Given the description of an element on the screen output the (x, y) to click on. 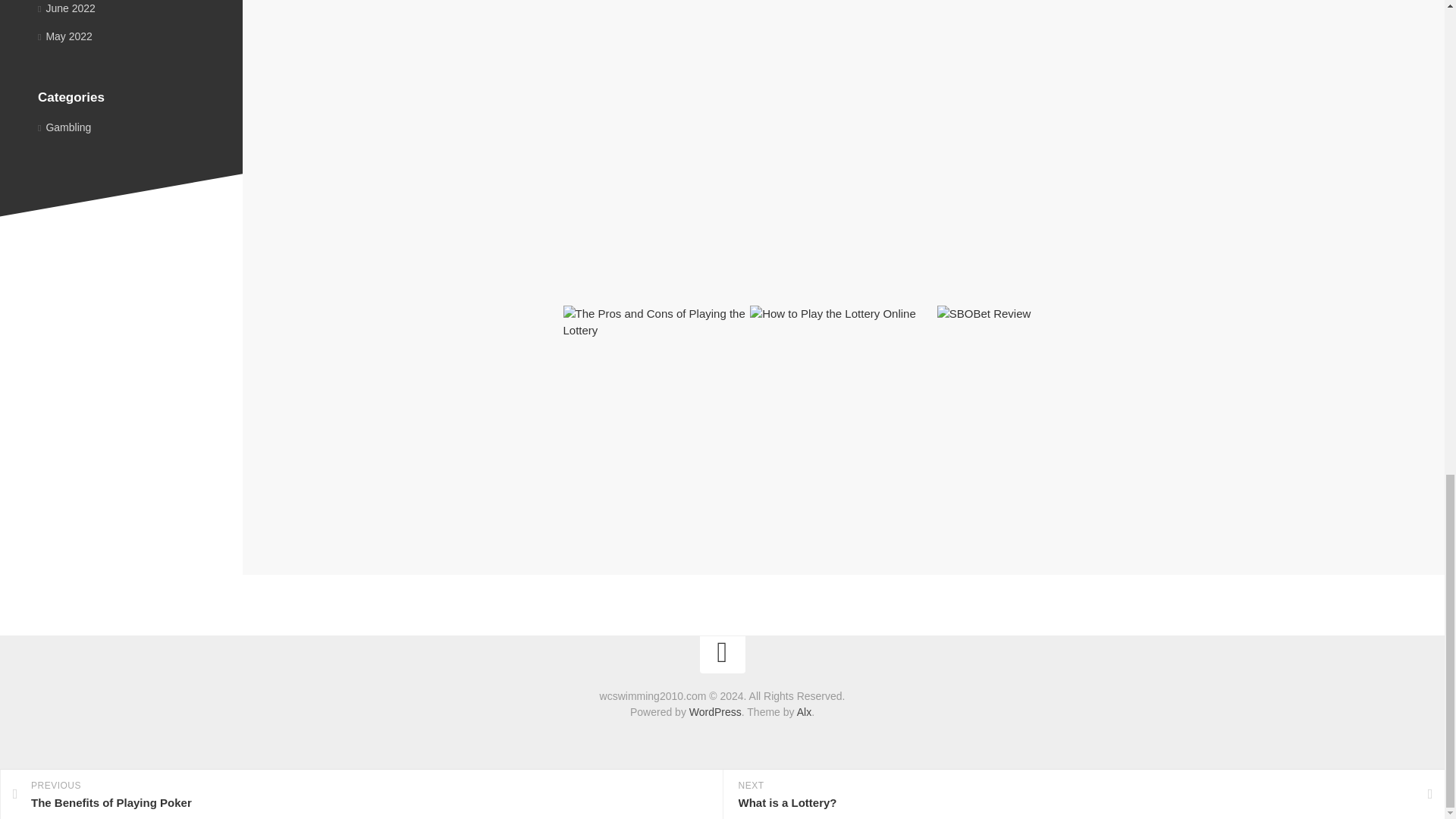
SBOBet Review (983, 433)
The Pros and Cons of Playing the Lottery (624, 442)
How to Play the Lottery Online (816, 442)
